Given the description of an element on the screen output the (x, y) to click on. 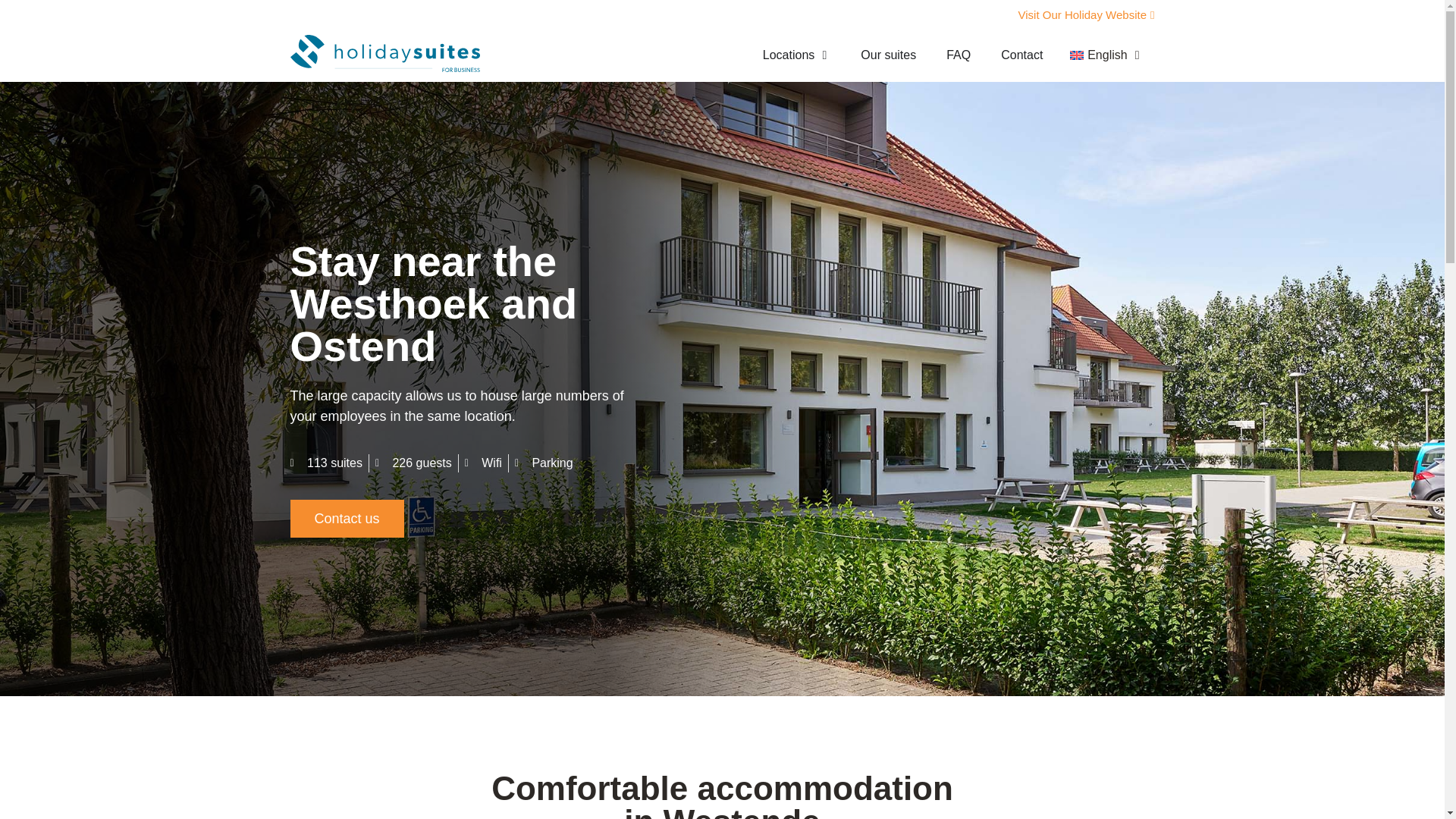
Contact us (346, 518)
Contact (1021, 54)
English (1104, 54)
Visit Our Holiday Website (1081, 10)
Locations (788, 54)
FAQ (958, 54)
Our suites (887, 54)
English (1104, 54)
